Given the description of an element on the screen output the (x, y) to click on. 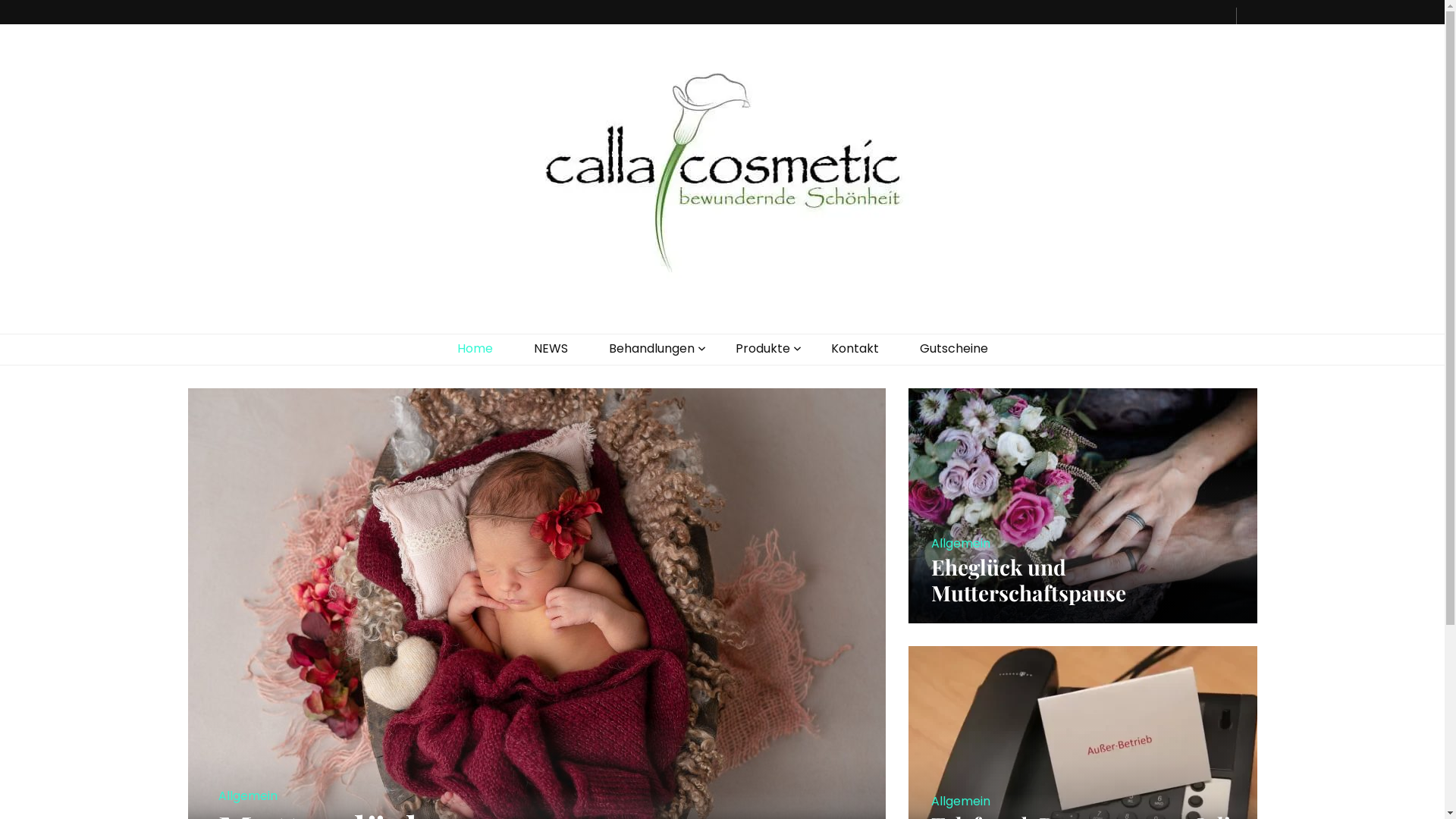
Kontakt Element type: text (854, 348)
Allgemein Element type: text (960, 800)
NEWS Element type: text (550, 348)
Allgemein Element type: text (960, 543)
Produkte Element type: text (762, 348)
Gutscheine Element type: text (953, 348)
Calla Cosmetic Element type: text (341, 315)
Behandlungen Element type: text (650, 348)
Allgemein Element type: text (247, 795)
Home Element type: text (474, 348)
